Given the description of an element on the screen output the (x, y) to click on. 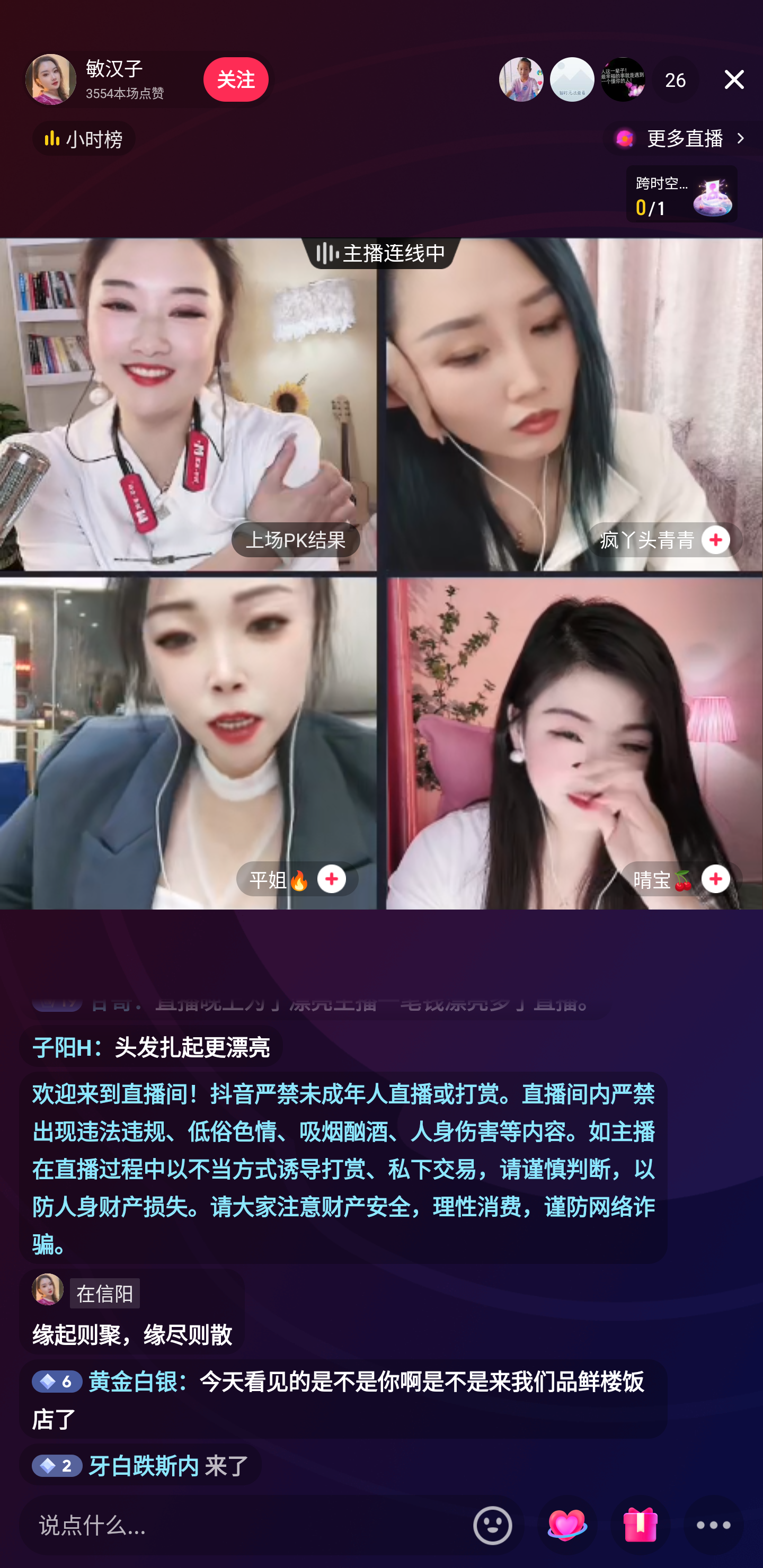
榜一 用户8060435961641 (521, 78)
榜二 浪子哥＜887＞ (572, 78)
榜三 34号 (623, 78)
主播敏汉子 3554本场点赞  敏汉子 3554本场点赞 关注 (148, 79)
26 26在线观众 (675, 78)
关注 (235, 78)
关闭 (733, 78)
小时榜，按钮 (83, 137)
更多直播 (682, 137)
心愿单 SaaS任务Banner 心愿单- (681, 193)
疯丫头青青 (572, 403)
上场PK结果 (295, 539)
平姐🔥 (188, 743)
晴宝🍒 (572, 743)
子阳H：头发扎起更漂亮 (151, 1045)
* 黄金白银：今天看见的是不是你啊是不是来我们品鲜楼饭店了 (343, 1399)
* 牙白跌斯内 来了 (140, 1464)
说点什么... 表情入口 (271, 1524)
表情入口 (492, 1524)
小心心 (567, 1526)
礼物 (640, 1526)
更多面板 按钮 (713, 1526)
